Given the description of an element on the screen output the (x, y) to click on. 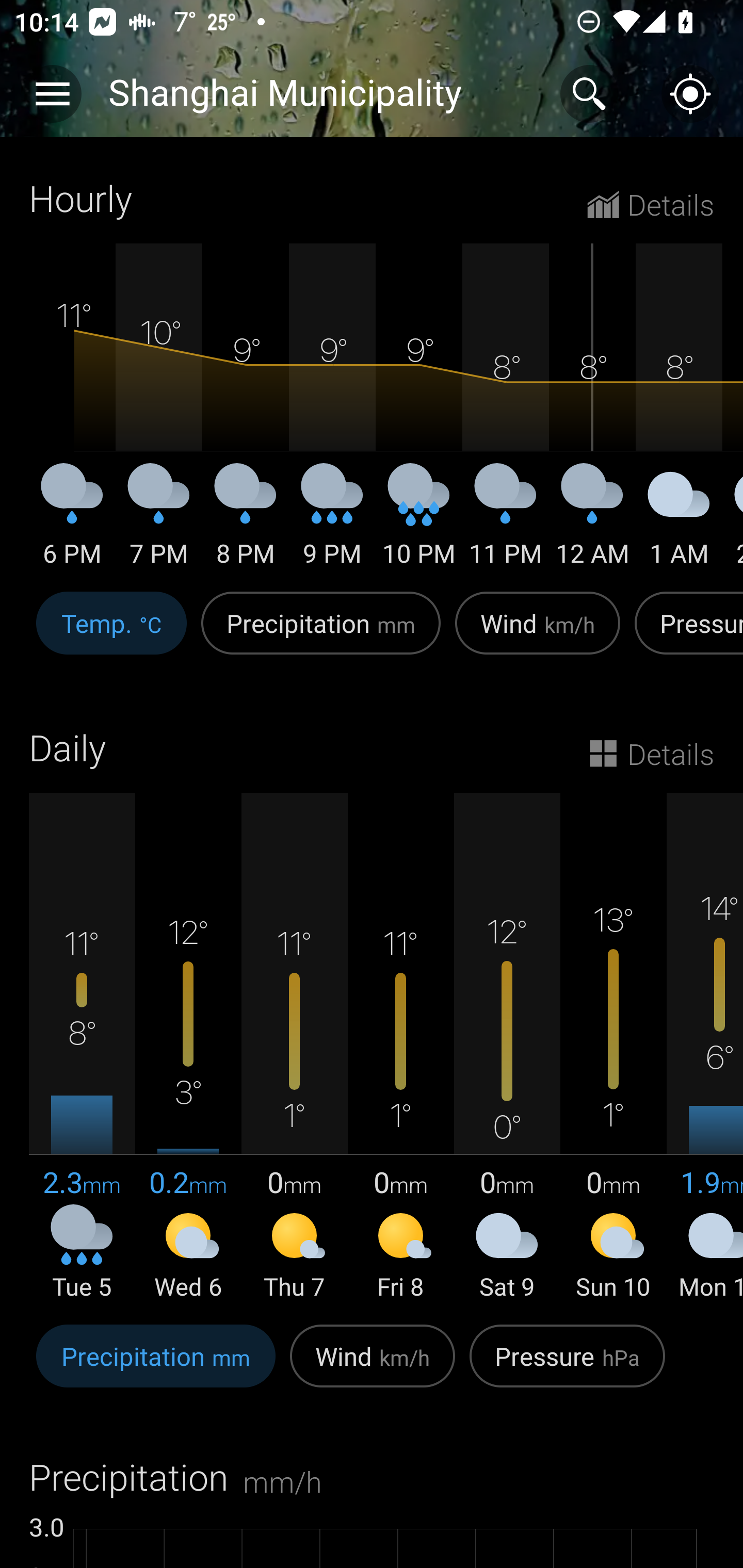
6 PM (71, 521)
7 PM (158, 521)
8 PM (245, 521)
9 PM (332, 521)
10 PM (418, 521)
11 PM (505, 521)
12 AM (592, 521)
1 AM (679, 521)
Temp. °C (110, 633)
Precipitation mm (320, 633)
Wind km/h (537, 633)
Pressure (685, 633)
11° 8° 2.3 mm Tue 5 (81, 1048)
12° 3° 0.2 mm Wed 6 (188, 1048)
11° 1° 0 mm Thu 7 (294, 1048)
11° 1° 0 mm Fri 8 (400, 1048)
12° 0° 0 mm Sat 9 (506, 1048)
13° 1° 0 mm Sun 10 (613, 1048)
14° 6° 1.9 mm Mon 11 (704, 1048)
Precipitation mm (155, 1366)
Wind km/h (372, 1366)
Pressure hPa (567, 1366)
